Given the description of an element on the screen output the (x, y) to click on. 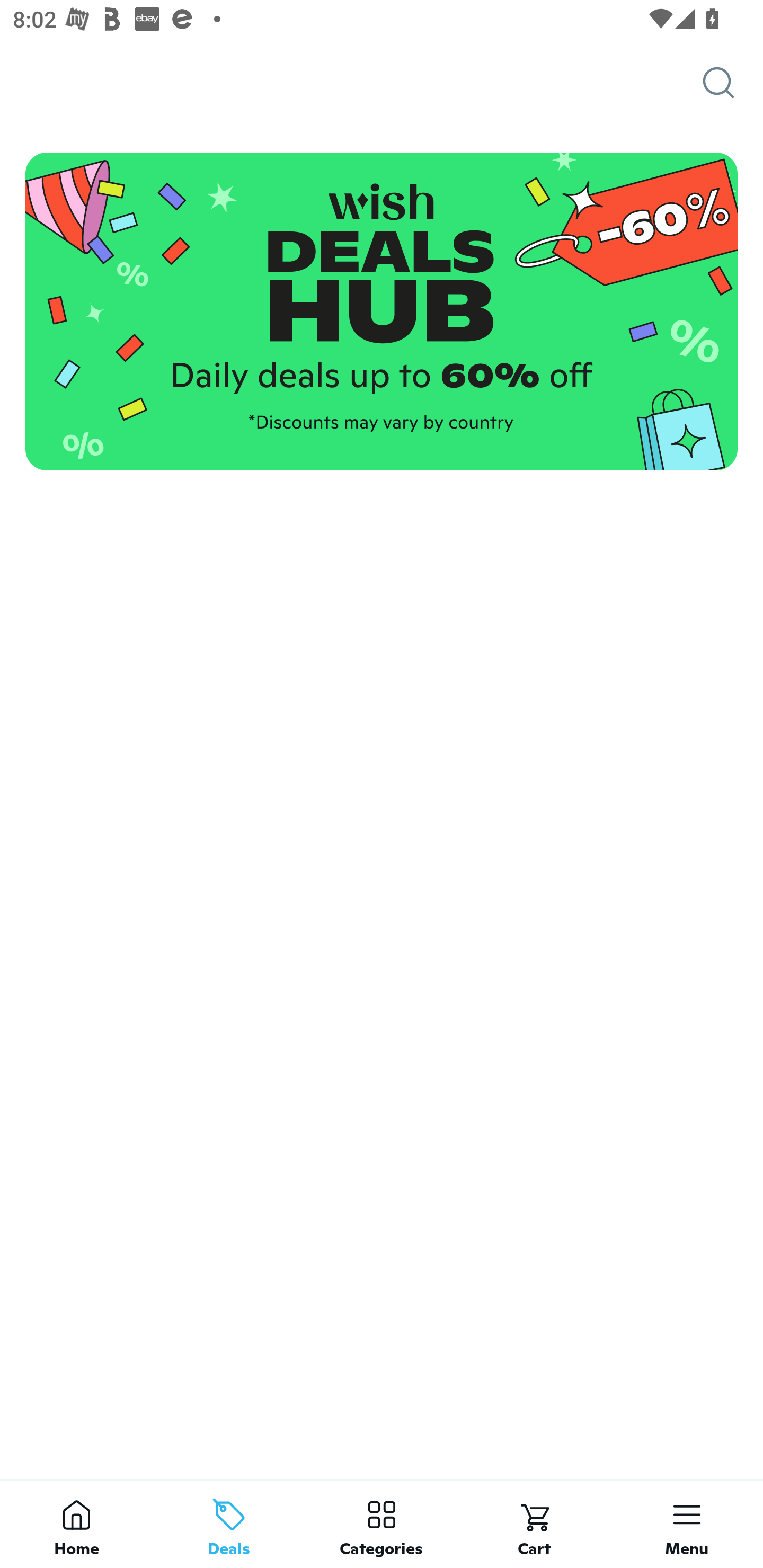
Search (732, 82)
Home (76, 1523)
Deals (228, 1523)
Categories (381, 1523)
Cart (533, 1523)
Menu (686, 1523)
